Given the description of an element on the screen output the (x, y) to click on. 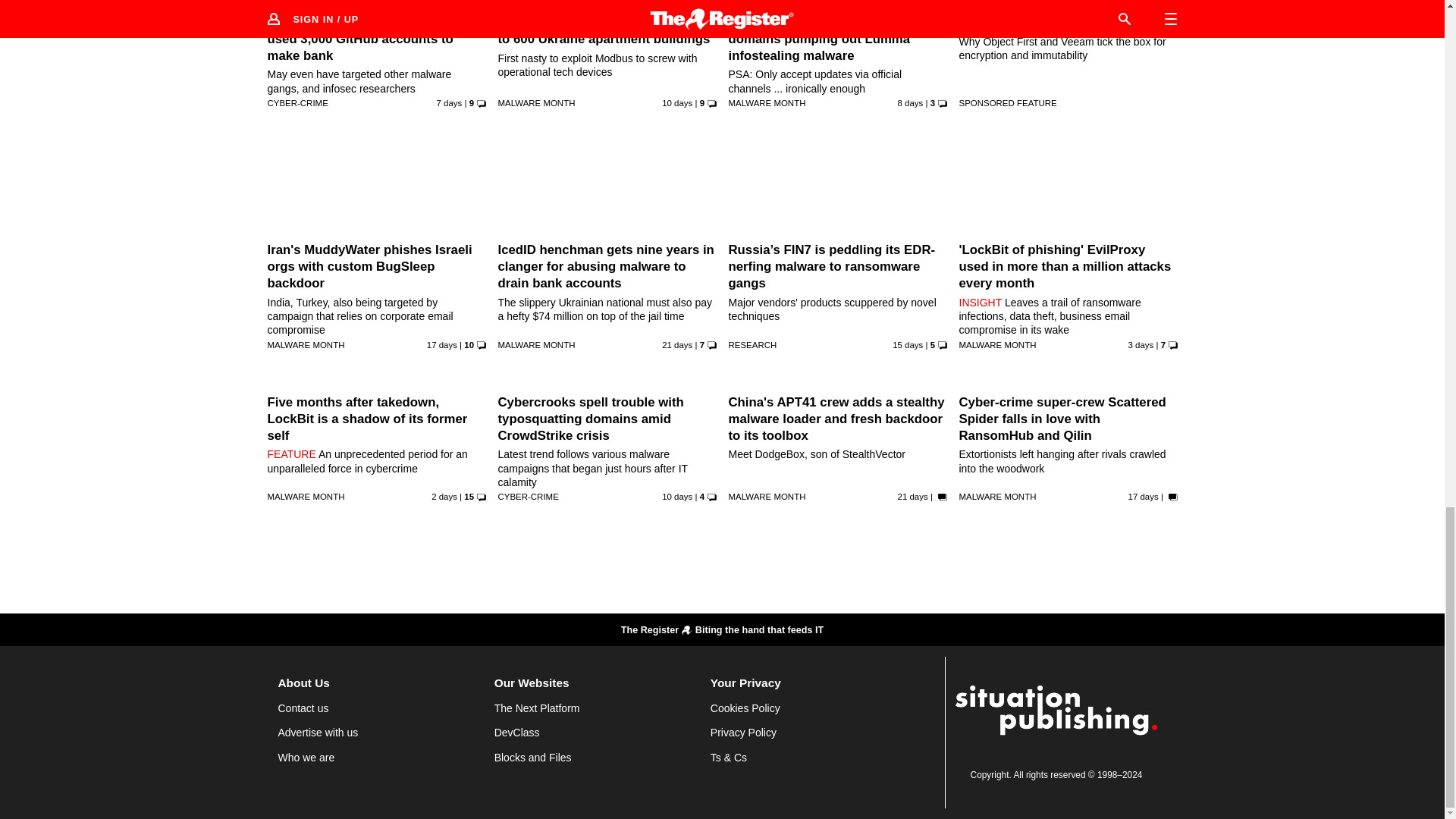
23 Jul 2024 15:15 (677, 496)
31 Jul 2024 14:14 (443, 496)
25 Jul 2024 22:30 (910, 102)
30 Jul 2024 14:33 (1141, 344)
18 Jul 2024 13:40 (907, 344)
26 Jul 2024 1:34 (449, 102)
12 Jul 2024 16:3 (677, 344)
17 Jul 2024 0:0 (441, 344)
23 Jul 2024 9:0 (677, 102)
